Given the description of an element on the screen output the (x, y) to click on. 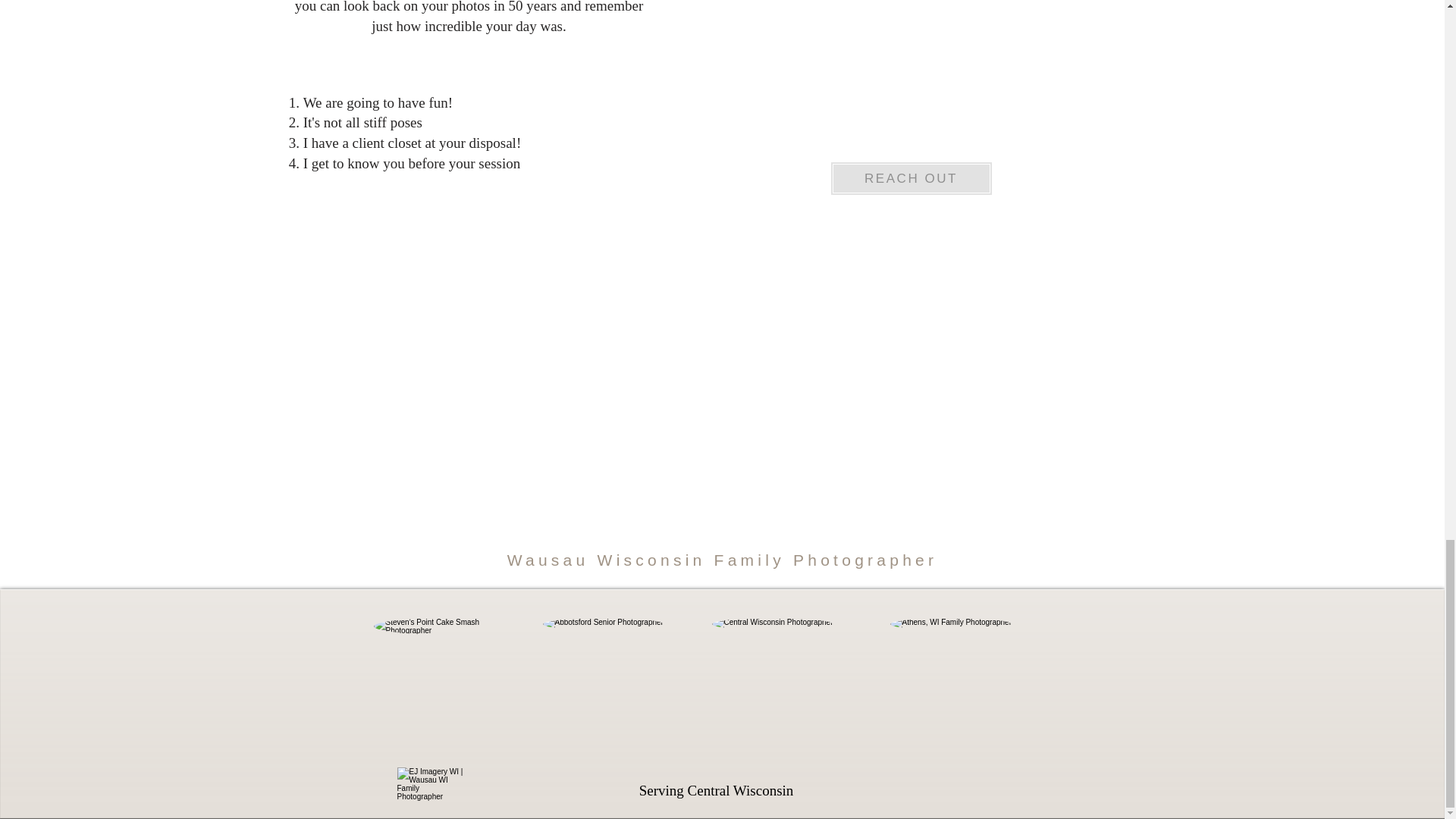
REACH OUT (910, 178)
